Given the description of an element on the screen output the (x, y) to click on. 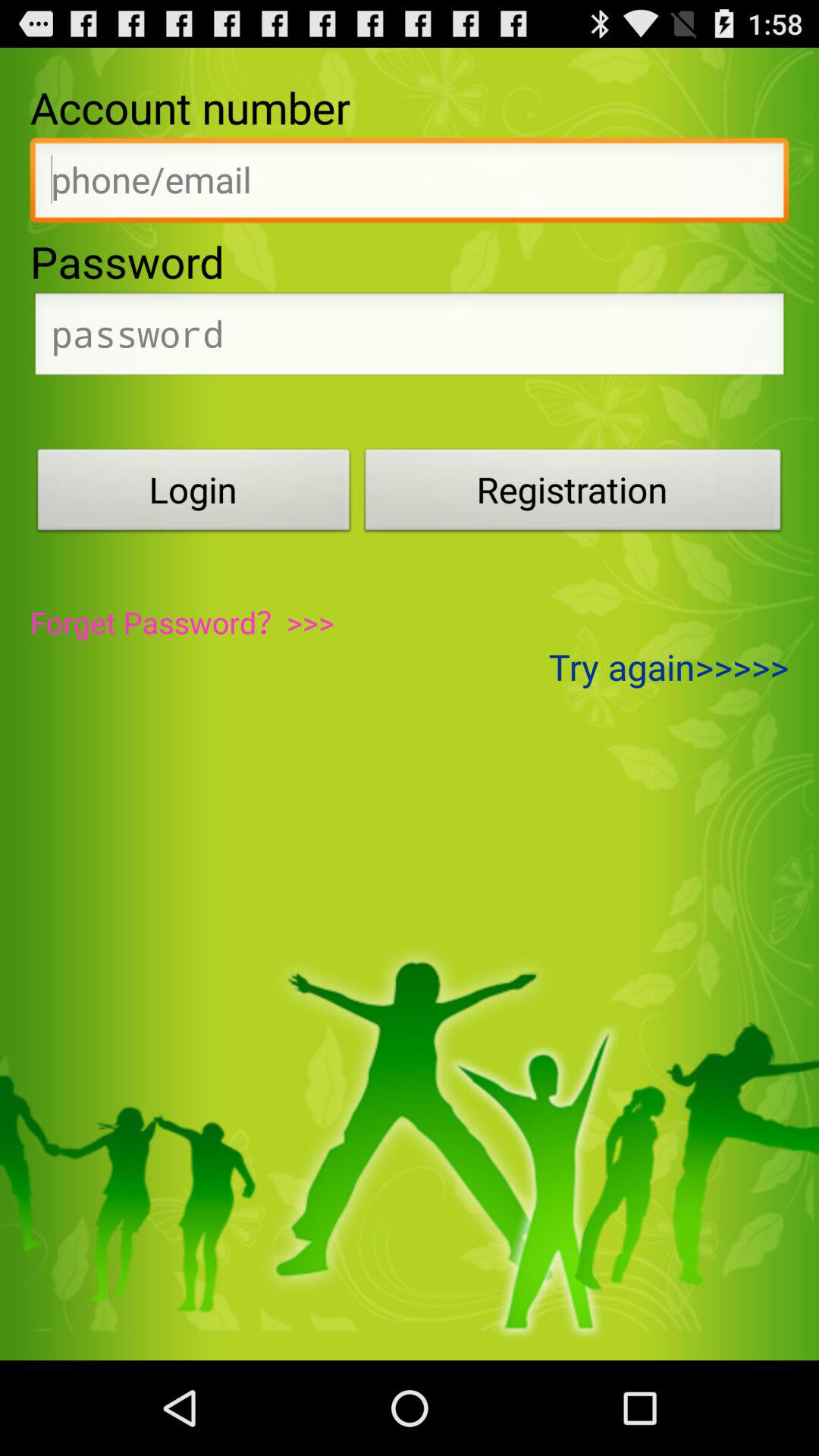
press the icon below registration (668, 666)
